Given the description of an element on the screen output the (x, y) to click on. 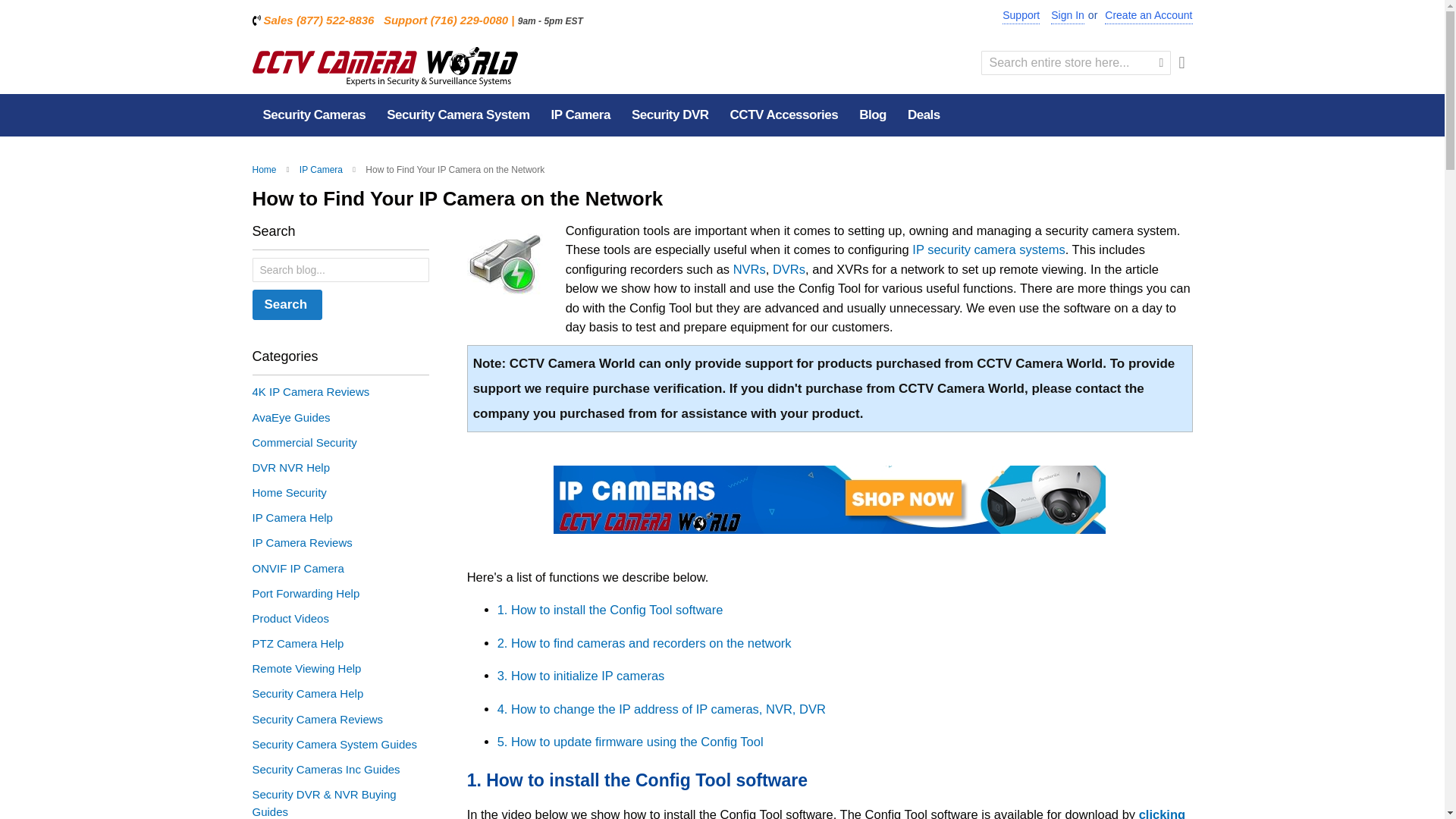
Call Sales or Technical Support (727, 19)
Support (1021, 16)
Create an Account (1148, 16)
Sign In (1067, 16)
